Given the description of an element on the screen output the (x, y) to click on. 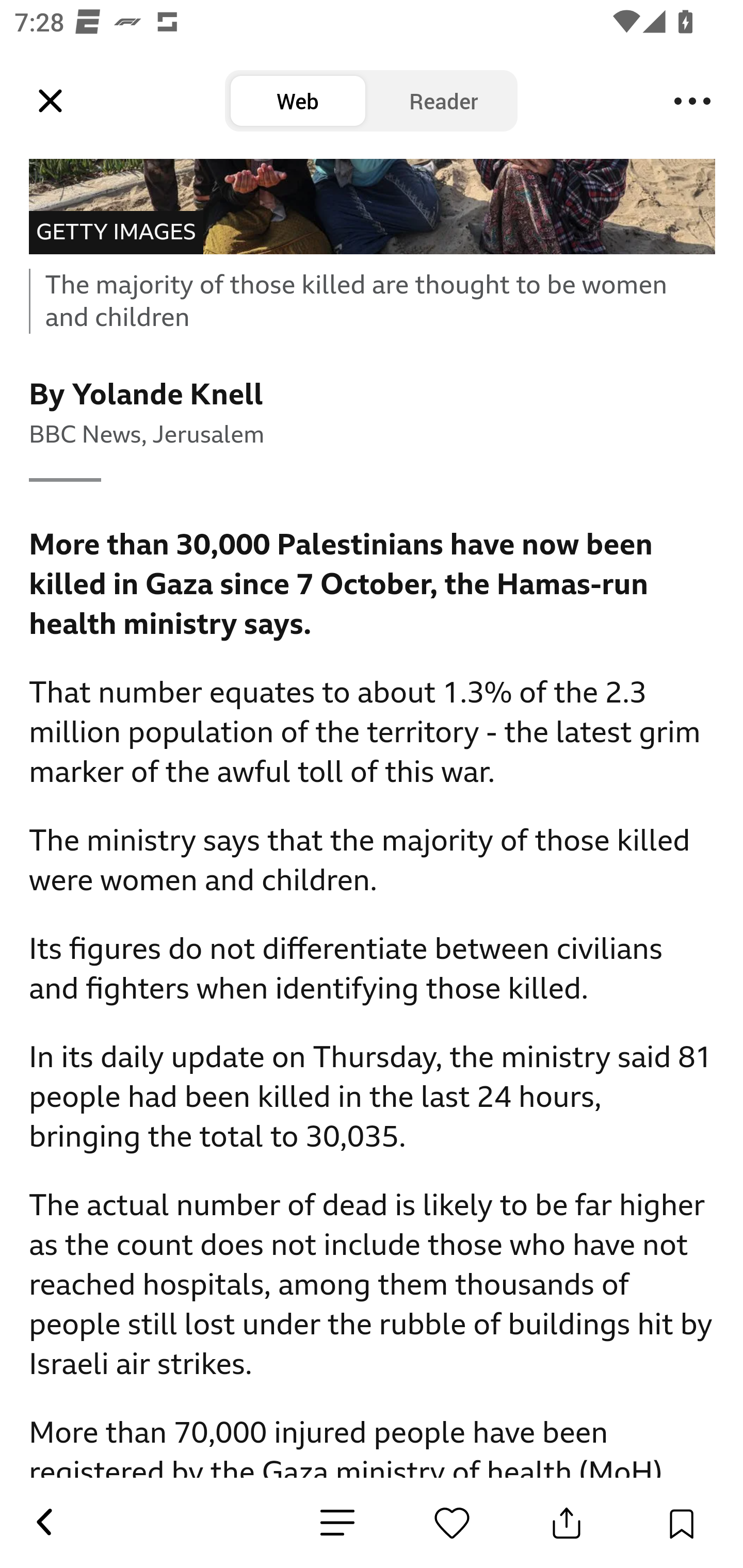
Leading Icon (50, 101)
Reader (443, 101)
Menu (692, 101)
Back Button (43, 1523)
News Detail Emotion (451, 1523)
Share Button (566, 1523)
Save Button (680, 1523)
News Detail Emotion (337, 1523)
